Given the description of an element on the screen output the (x, y) to click on. 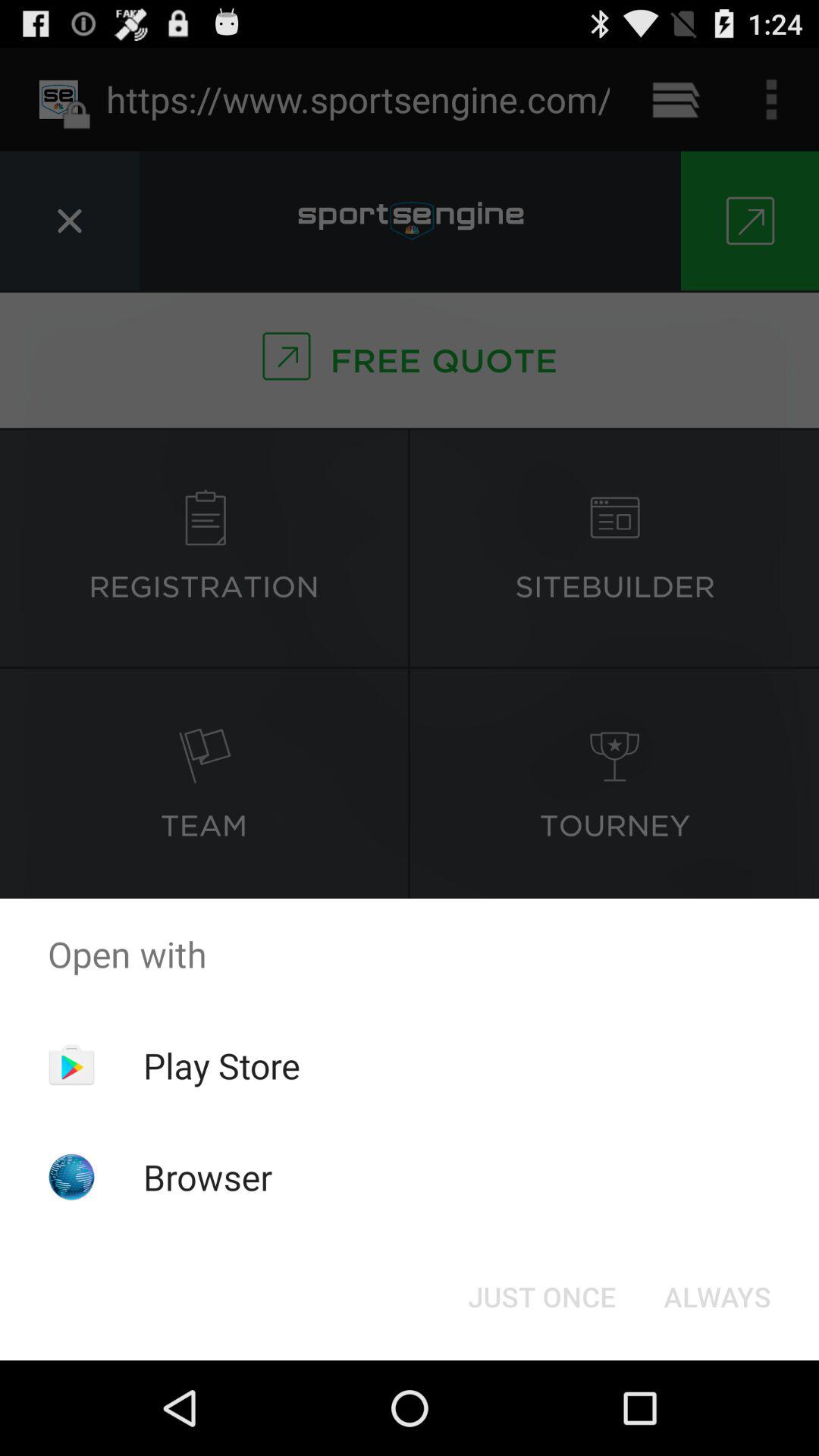
press item to the right of just once icon (717, 1296)
